Given the description of an element on the screen output the (x, y) to click on. 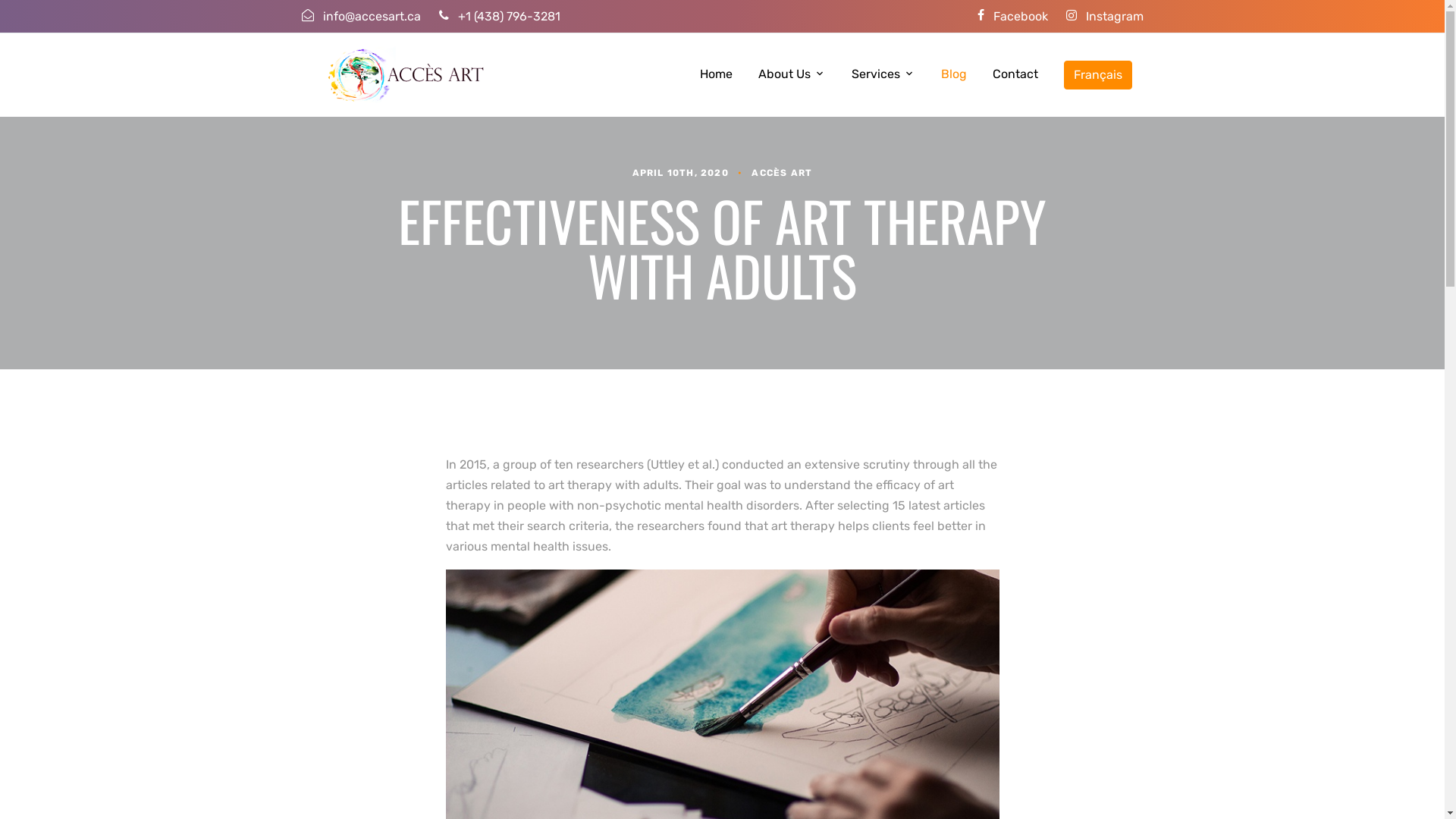
Contact Element type: text (1014, 73)
Instagram Element type: text (1104, 16)
info@accesart.ca Element type: text (360, 16)
Home Element type: text (715, 73)
About Us Element type: text (791, 73)
+1 (438) 796-3281 Element type: text (498, 16)
Blog Element type: text (953, 73)
Services Element type: text (882, 73)
Facebook Element type: text (1011, 16)
